Given the description of an element on the screen output the (x, y) to click on. 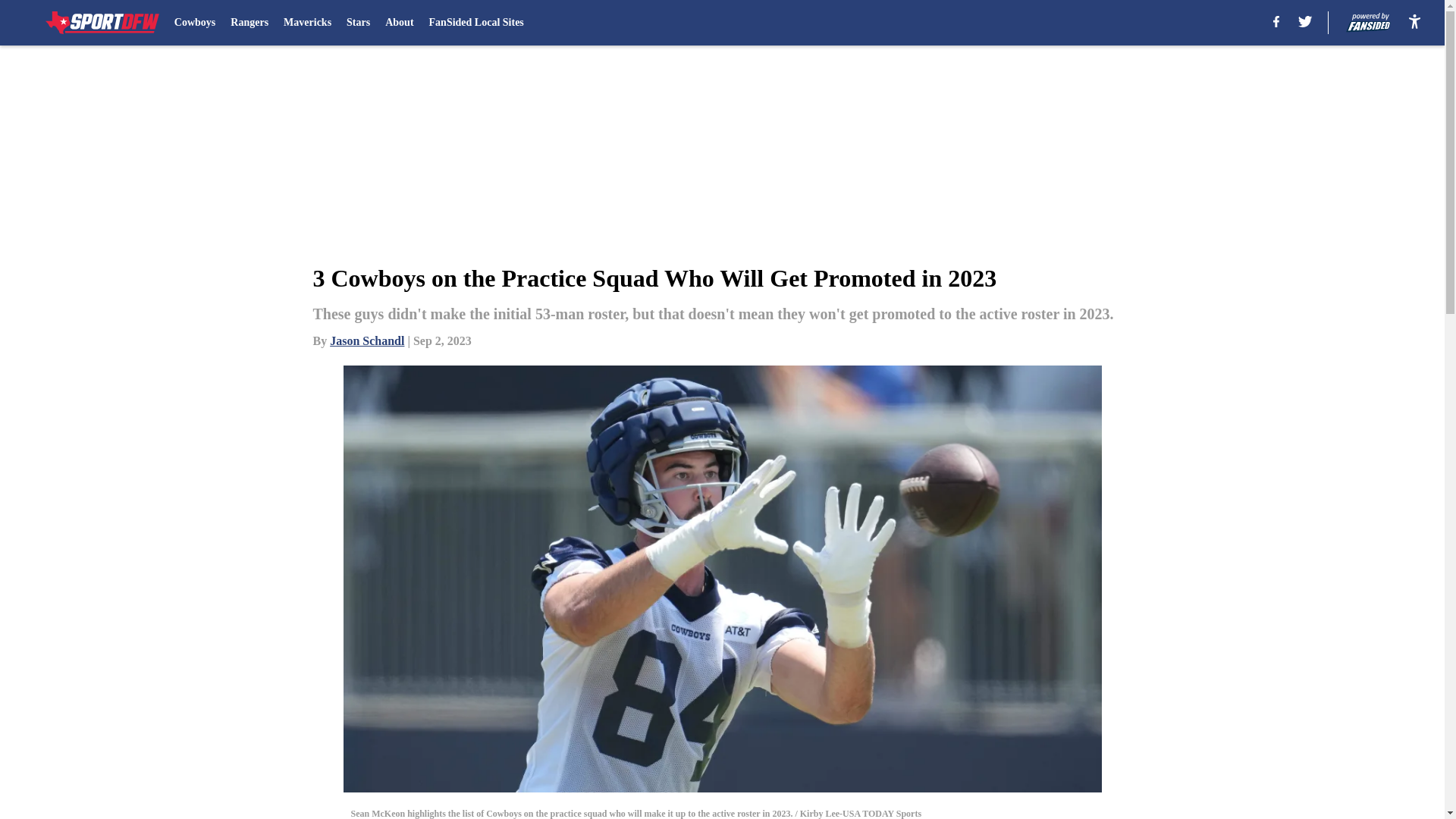
About (399, 22)
Mavericks (307, 22)
Jason Schandl (367, 340)
Rangers (248, 22)
Cowboys (194, 22)
Stars (357, 22)
FanSided Local Sites (476, 22)
